Given the description of an element on the screen output the (x, y) to click on. 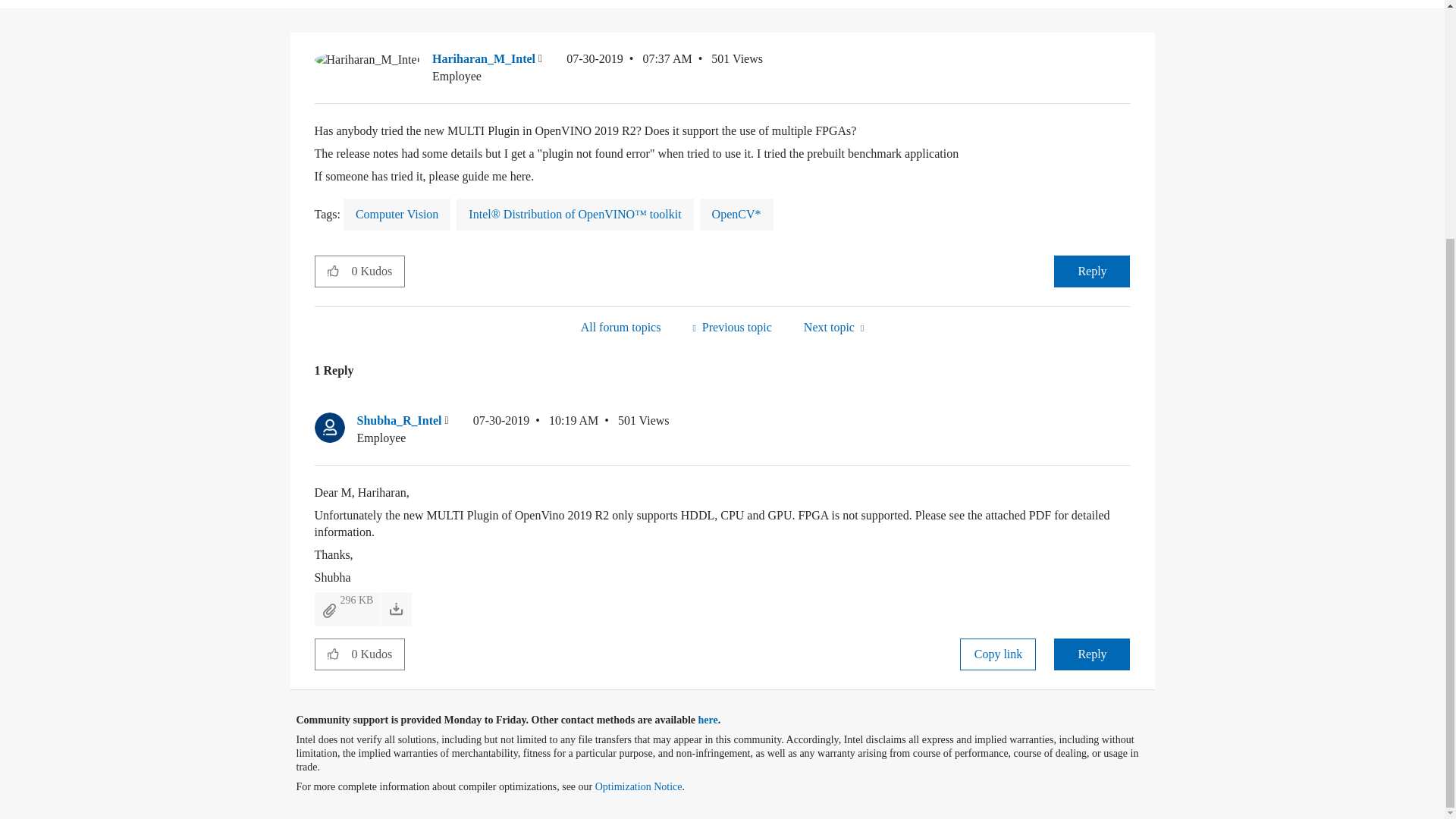
Posted on (629, 67)
Posted on (535, 429)
Text Detection Demo with Webcam on Windows (731, 327)
Click here to give kudos to this post. (332, 270)
Attachment (328, 610)
The total number of kudos this post has received. (377, 271)
